Given the description of an element on the screen output the (x, y) to click on. 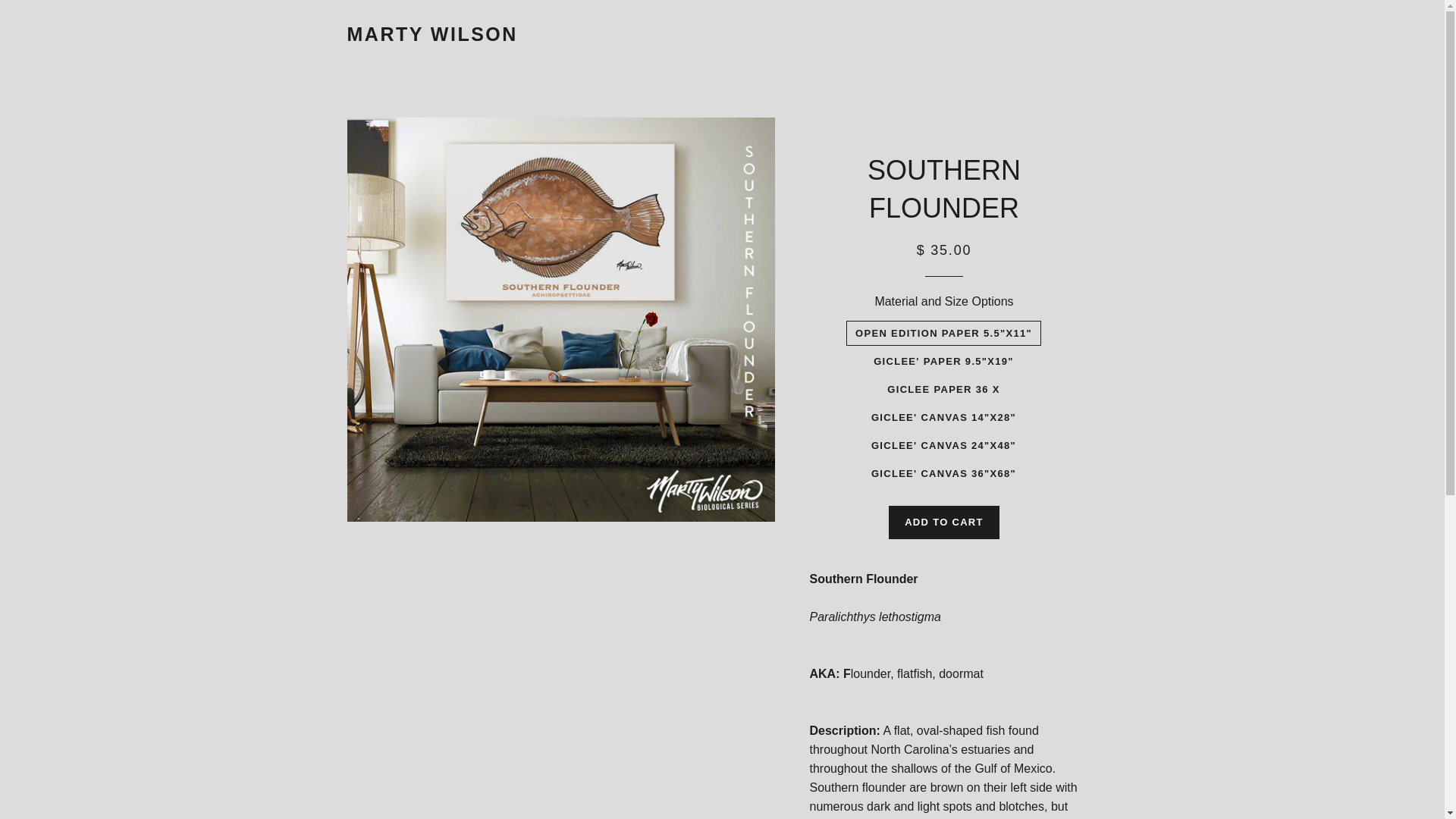
ADD TO CART (943, 522)
MARTY WILSON (432, 34)
